Given the description of an element on the screen output the (x, y) to click on. 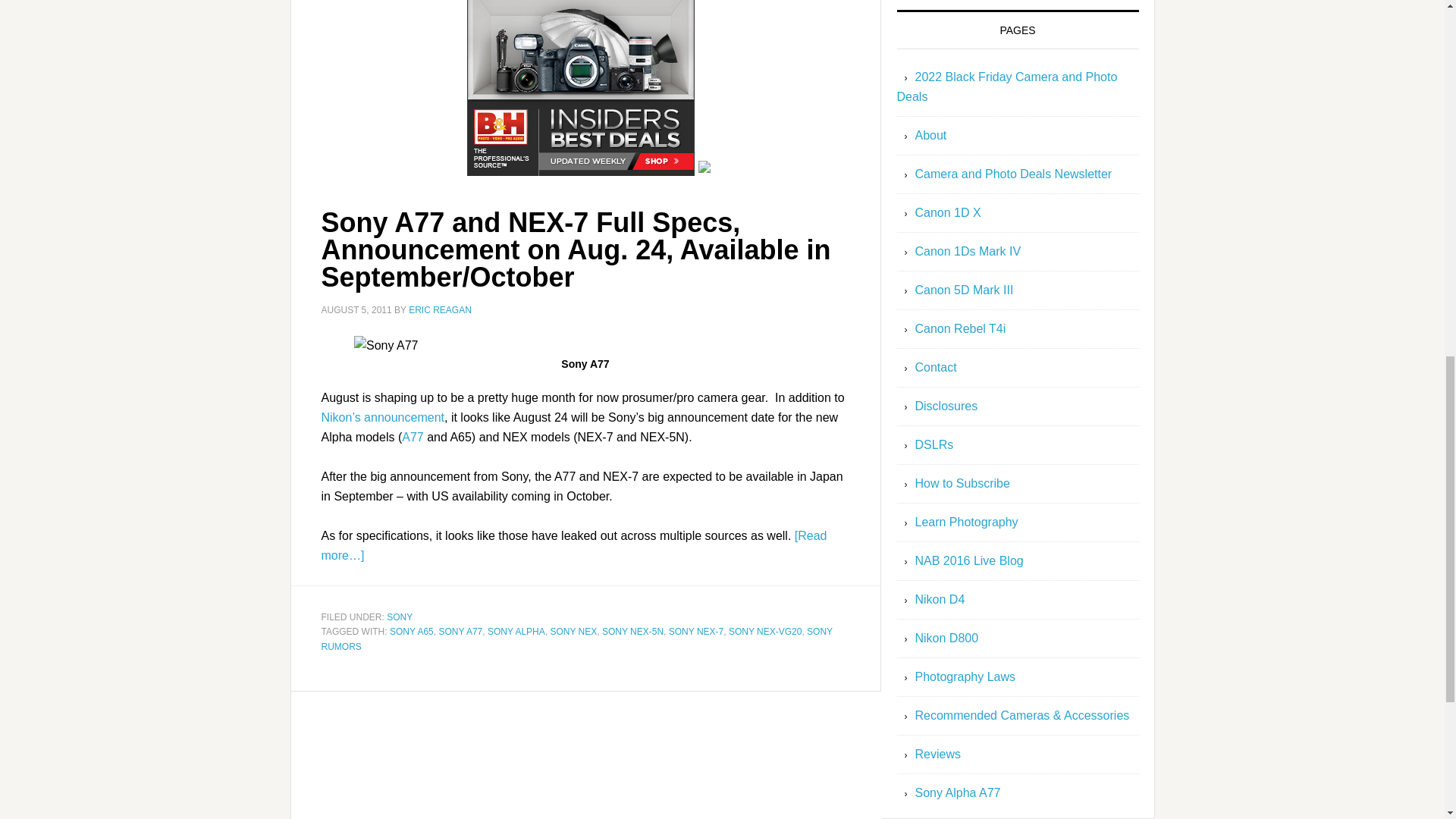
SONY RUMORS (576, 638)
SONY ALPHA (515, 631)
ERIC REAGAN (440, 309)
A77 (412, 436)
SONY NEX (573, 631)
SONY (399, 616)
SONY NEX-5N (632, 631)
SONY A77 (459, 631)
SONY NEX-VG20 (765, 631)
SONY A65 (411, 631)
